Given the description of an element on the screen output the (x, y) to click on. 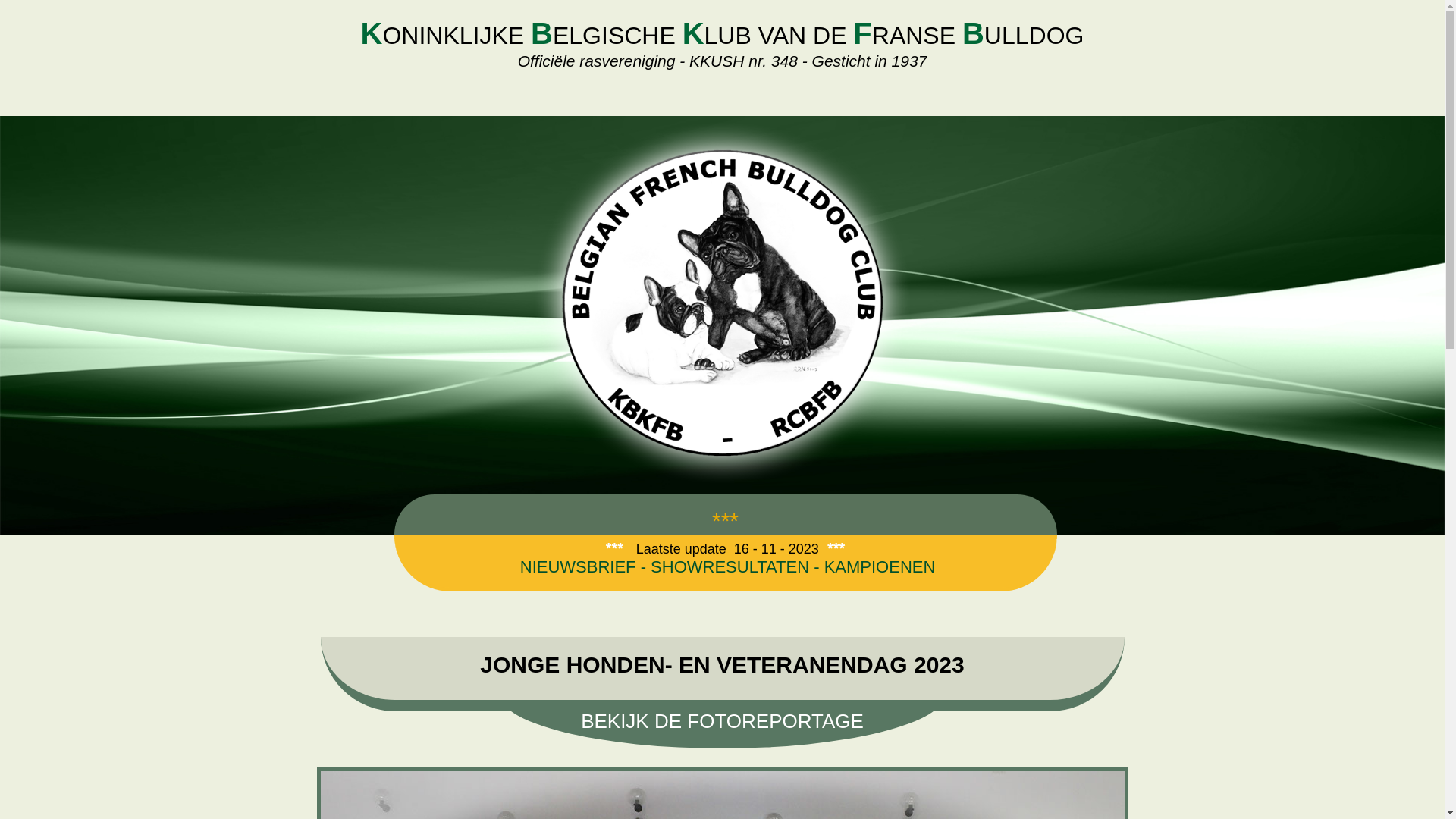
BEKIJK DE FOTOREPORTAGE Element type: text (721, 721)
